Given the description of an element on the screen output the (x, y) to click on. 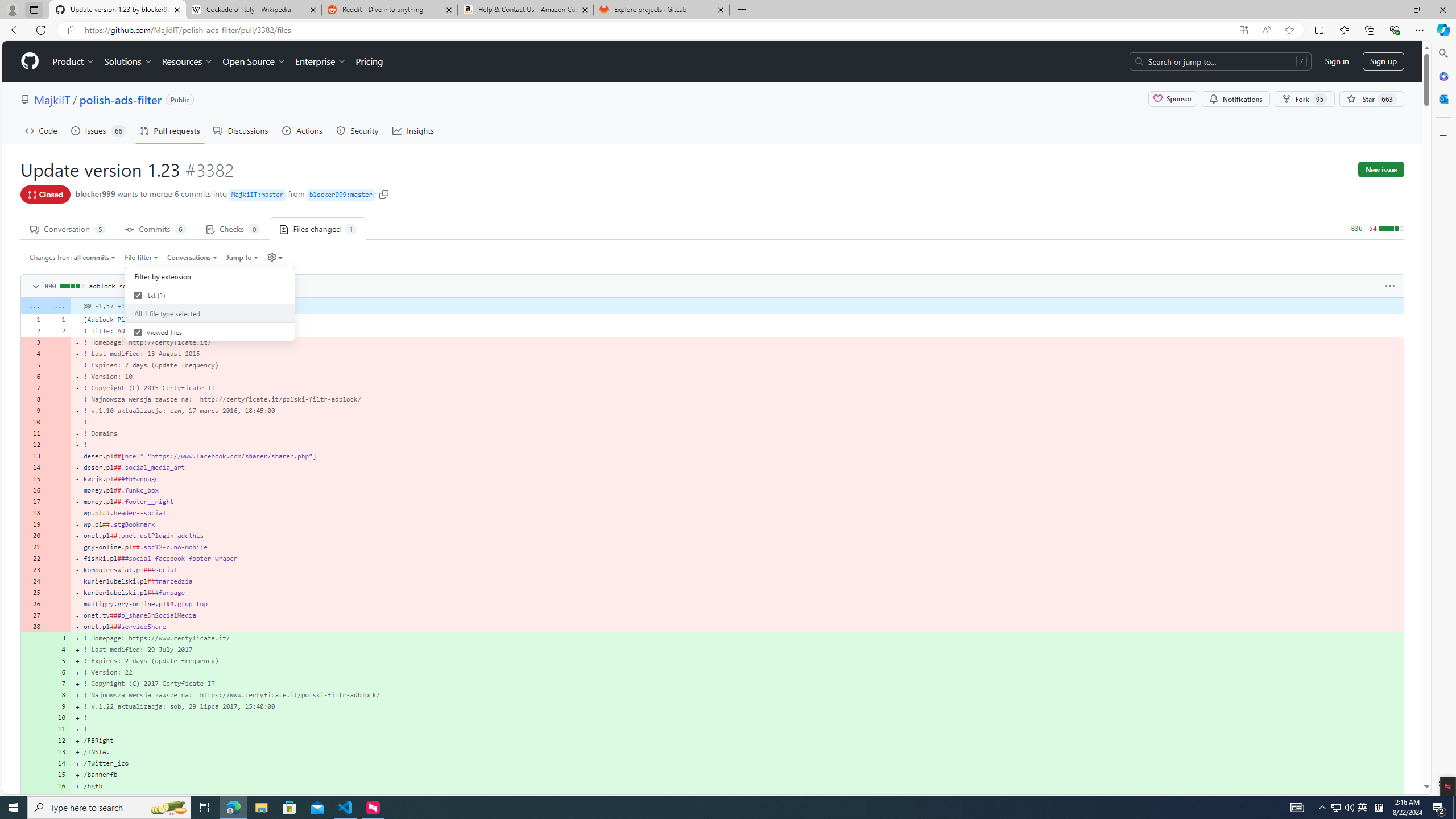
+ /FBRight  (737, 740)
Actions (302, 130)
8 (58, 695)
- ! v.1.10 aktualizacja: czw, 17 marca 2016, 18:45:00  (737, 410)
12 (58, 740)
5 (58, 660)
- ! Version: 10 (737, 376)
27 (33, 614)
Fork 95 (1304, 98)
Pull requests (170, 130)
Sponsor (1171, 98)
+ /btnartwrzuta  (737, 797)
